Given the description of an element on the screen output the (x, y) to click on. 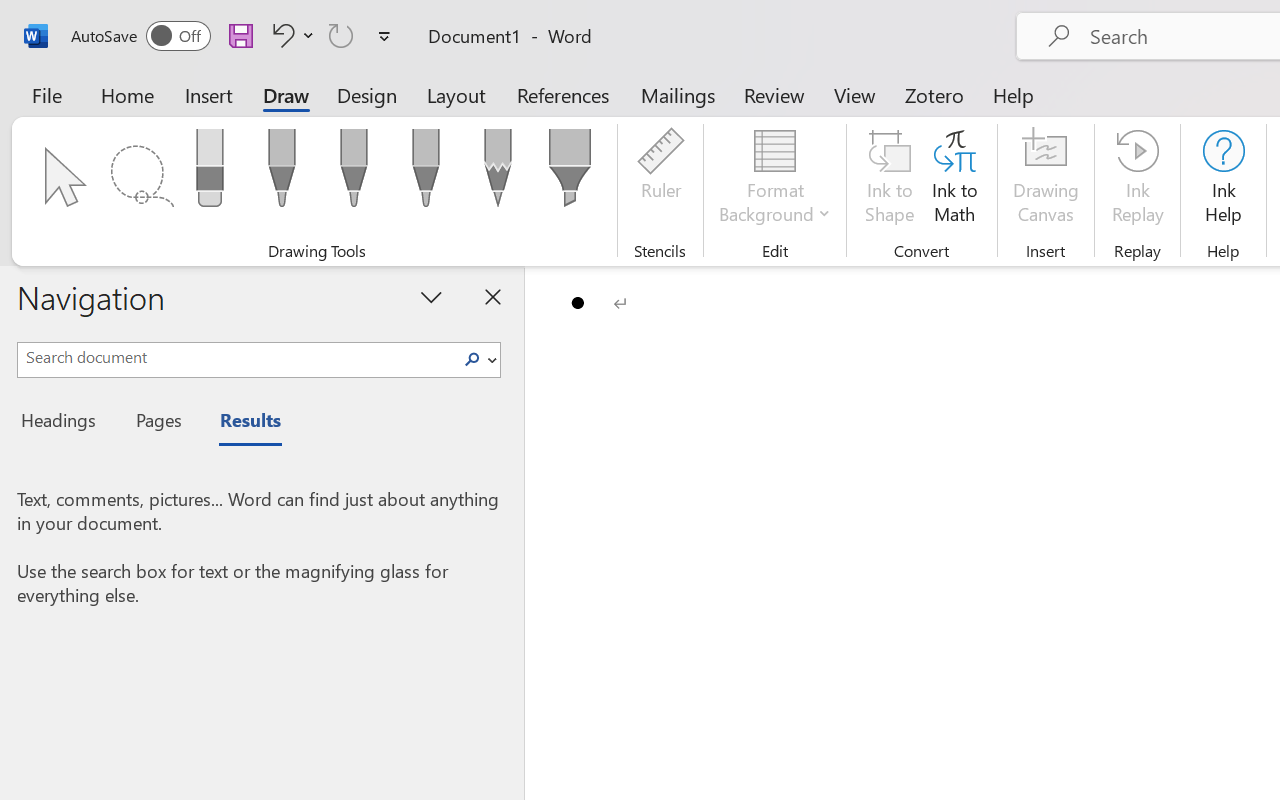
Undo Bullet Default (280, 35)
Results (240, 423)
Ink Replay (1137, 179)
Drawing Canvas (1045, 179)
Format Background (774, 179)
Ink Help (1223, 179)
